Given the description of an element on the screen output the (x, y) to click on. 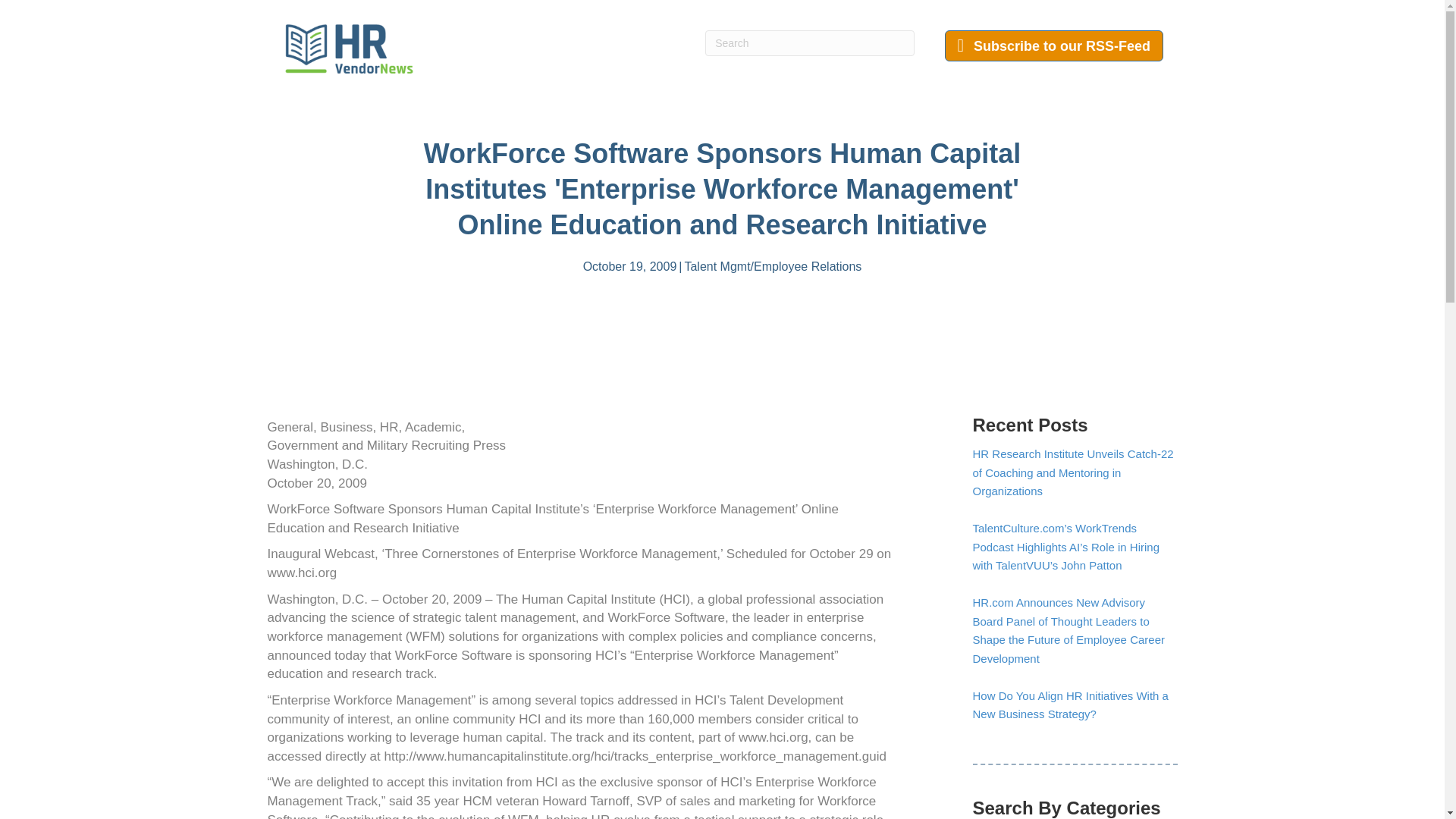
Type and press Enter to search. (809, 43)
HR Logo color (348, 48)
Subscribe to our RSS-Feed (1053, 45)
